Given the description of an element on the screen output the (x, y) to click on. 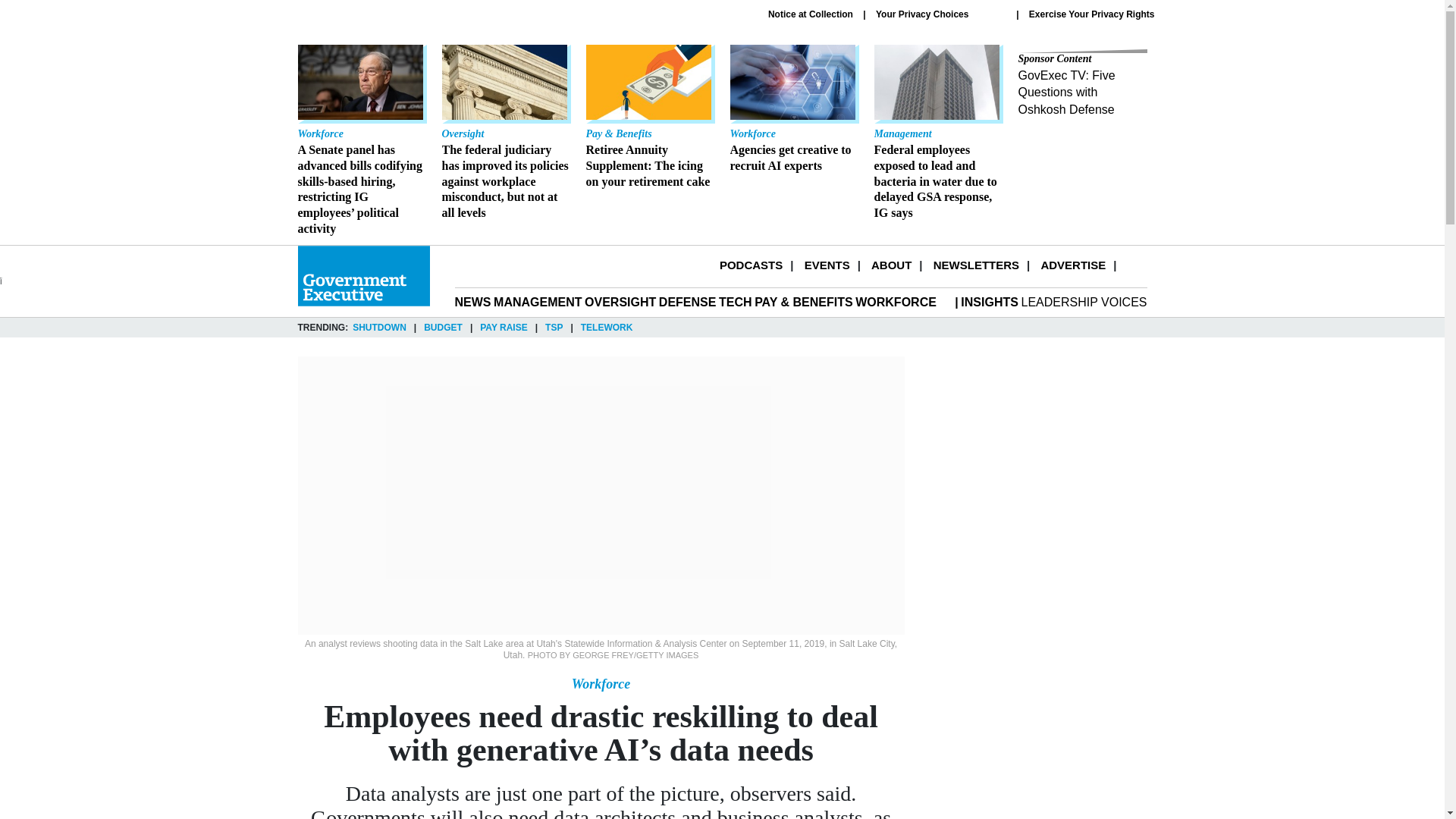
NEWSLETTERS (976, 264)
PODCASTS (751, 264)
EVENTS (827, 264)
Exercise Your Privacy Rights (1091, 14)
Notice at Collection (810, 14)
ABOUT (794, 109)
ADVERTISE (890, 264)
Your Privacy Choices (1073, 264)
